Given the description of an element on the screen output the (x, y) to click on. 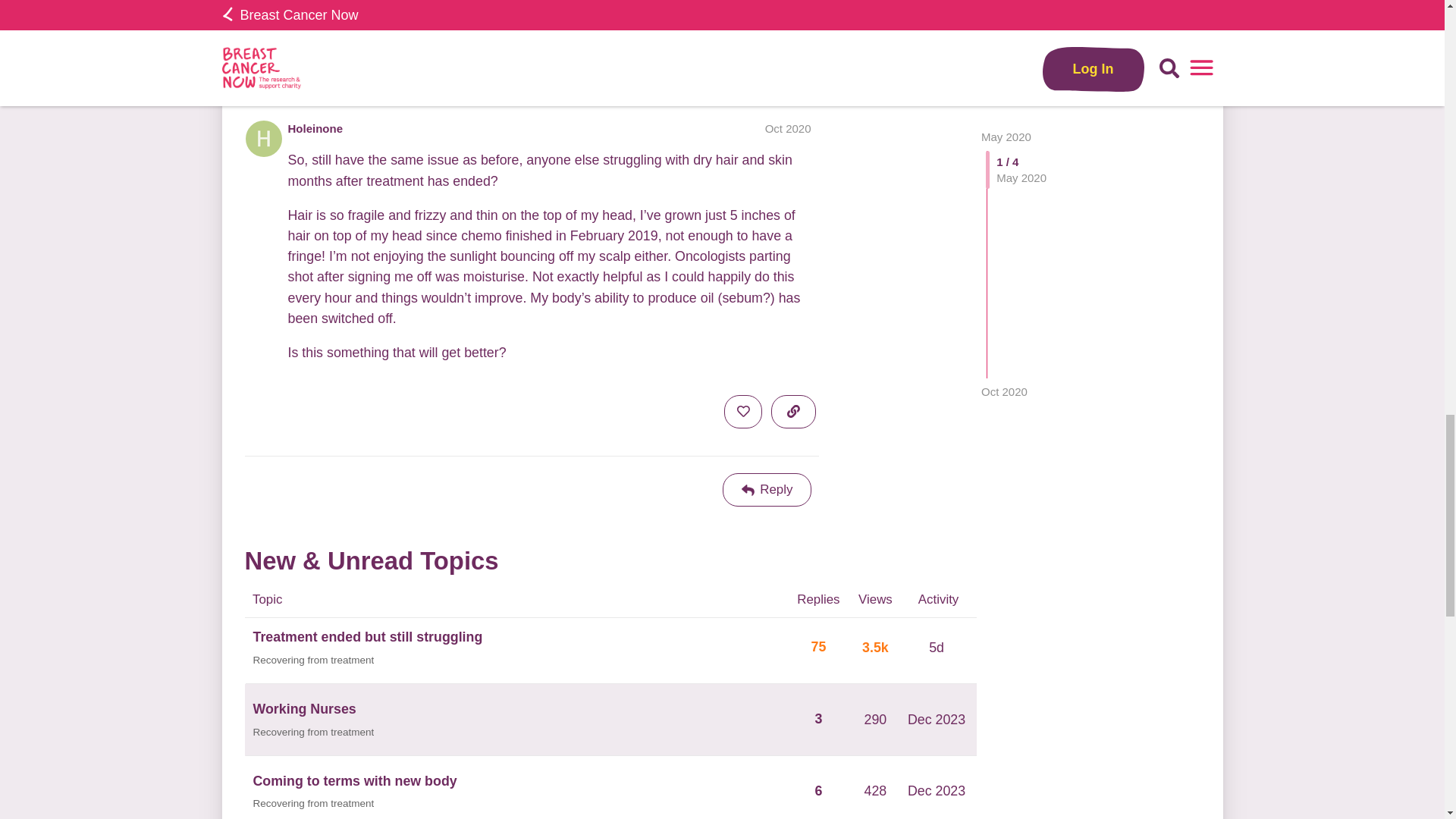
Holeinone (315, 128)
Oct 2020 (787, 128)
